Given the description of an element on the screen output the (x, y) to click on. 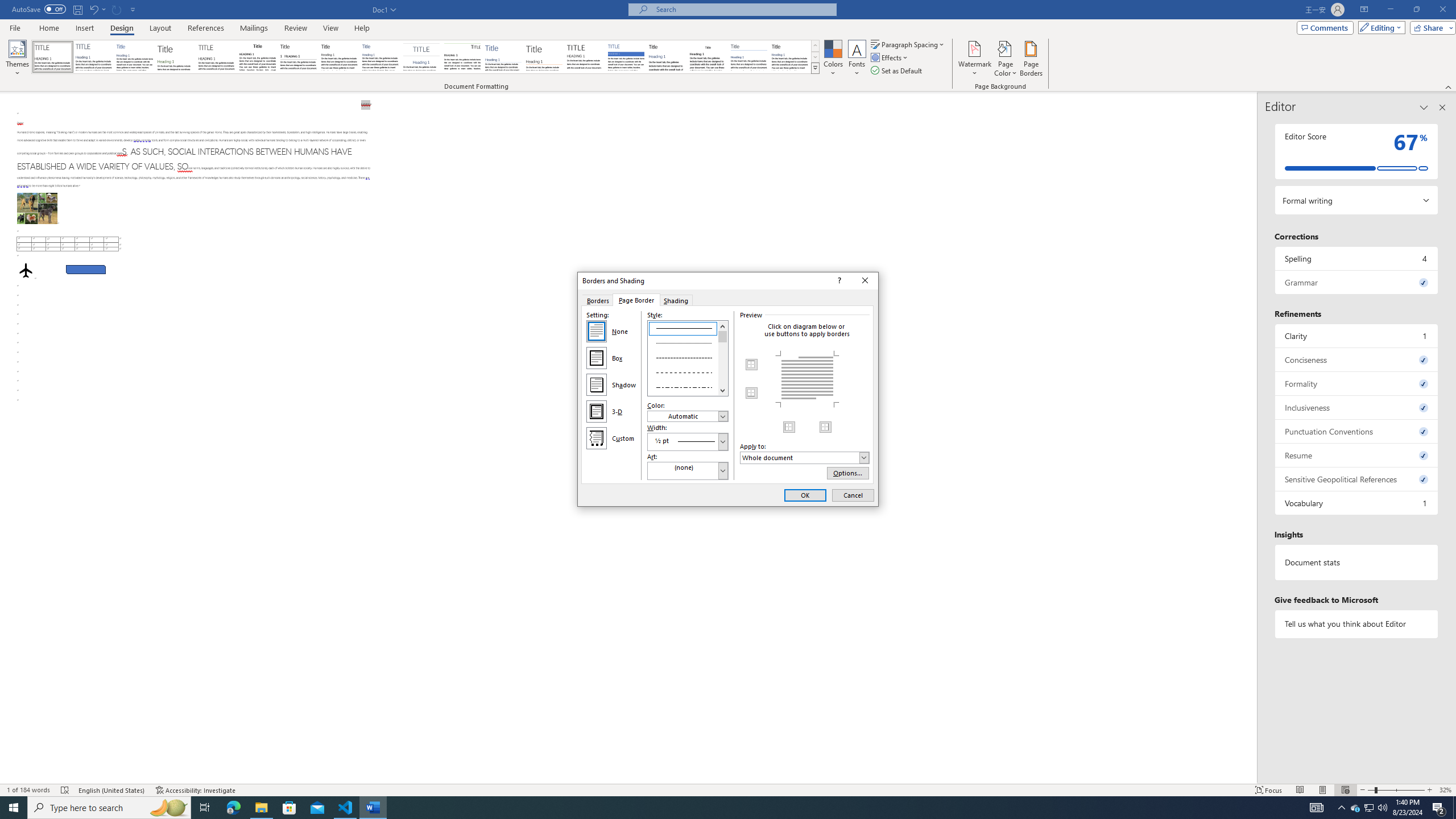
AutomationID: QuickStylesSets (425, 56)
Basic (Stylish) (175, 56)
Grammar, 0 issues. Press space or enter to review items. (1356, 282)
Options... (848, 472)
Word 2010 (749, 56)
Lines (Distinctive) (462, 56)
Resume, 0 issues. Press space or enter to review items. (1356, 454)
Width: (687, 441)
Word - 1 running window (373, 807)
Page Borders... (1031, 58)
Clarity, 1 issue. Press space or enter to review items. (1356, 335)
Paragraph Spacing (908, 44)
Undo Paragraph Alignment (96, 9)
